Given the description of an element on the screen output the (x, y) to click on. 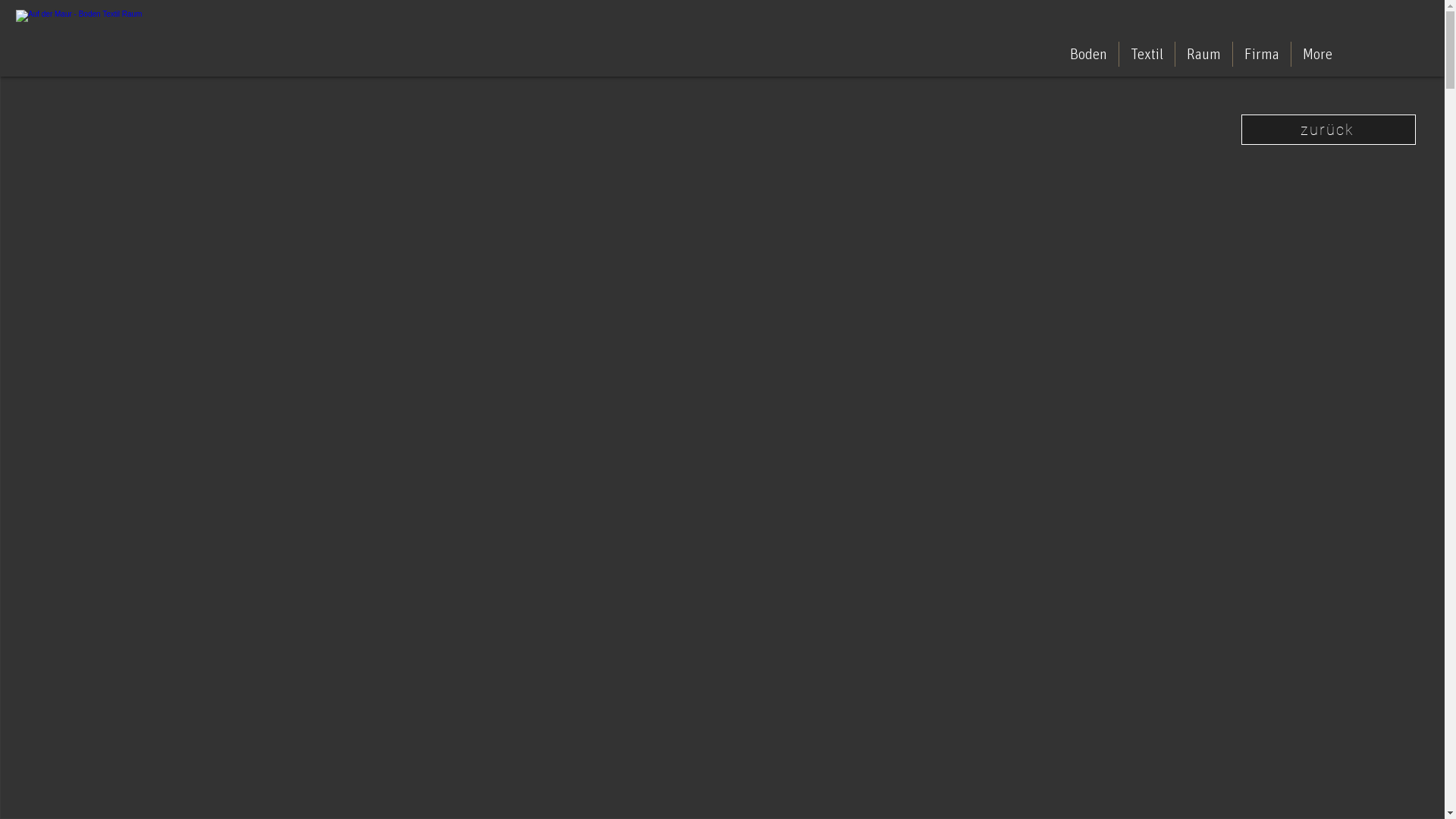
Textil Element type: text (1146, 53)
Boden Element type: text (1088, 53)
Raum Element type: text (1203, 53)
Firma Element type: text (1261, 53)
